Given the description of an element on the screen output the (x, y) to click on. 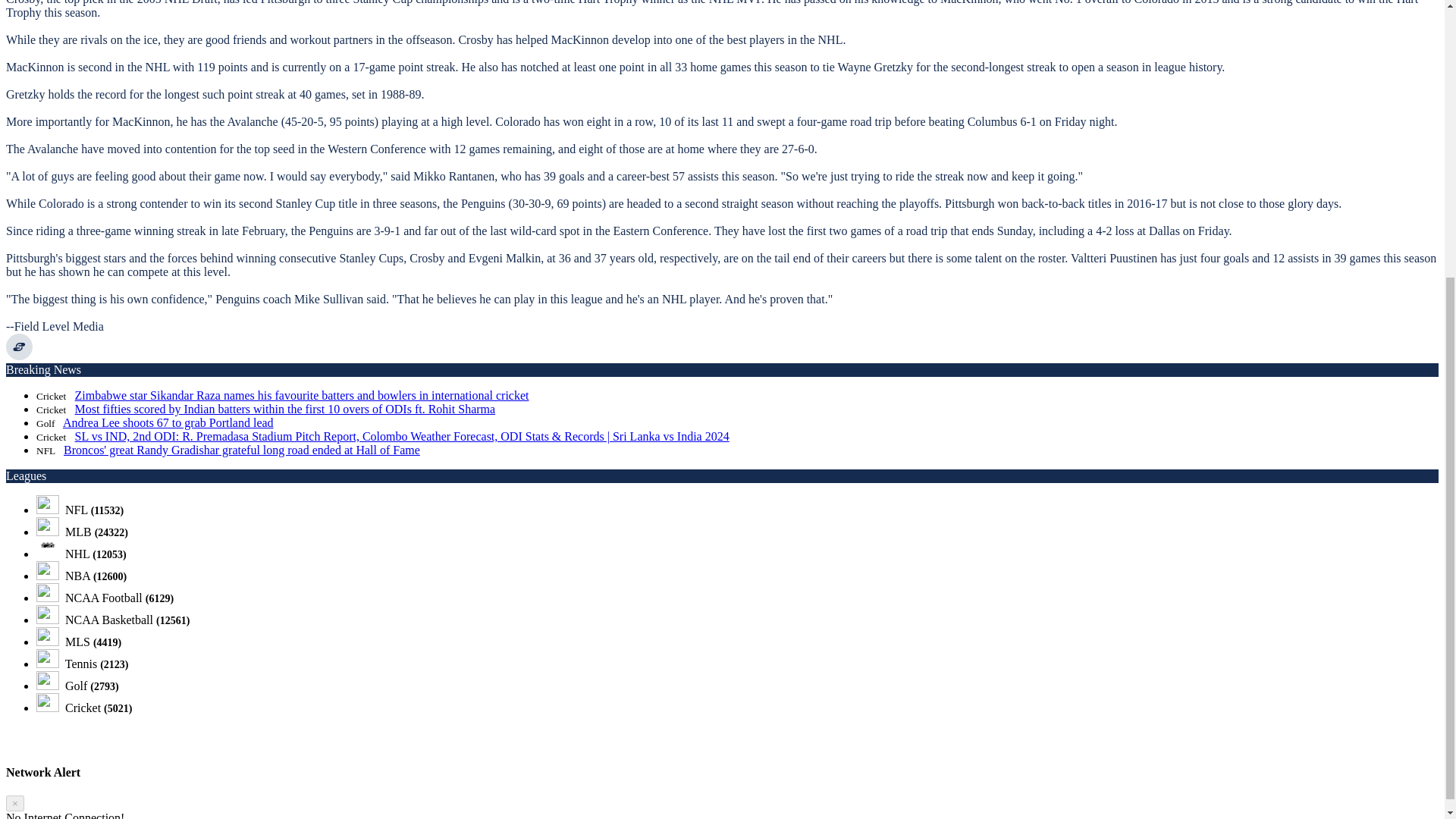
Andrea Lee shoots 67 to grab Portland lead (167, 422)
